Given the description of an element on the screen output the (x, y) to click on. 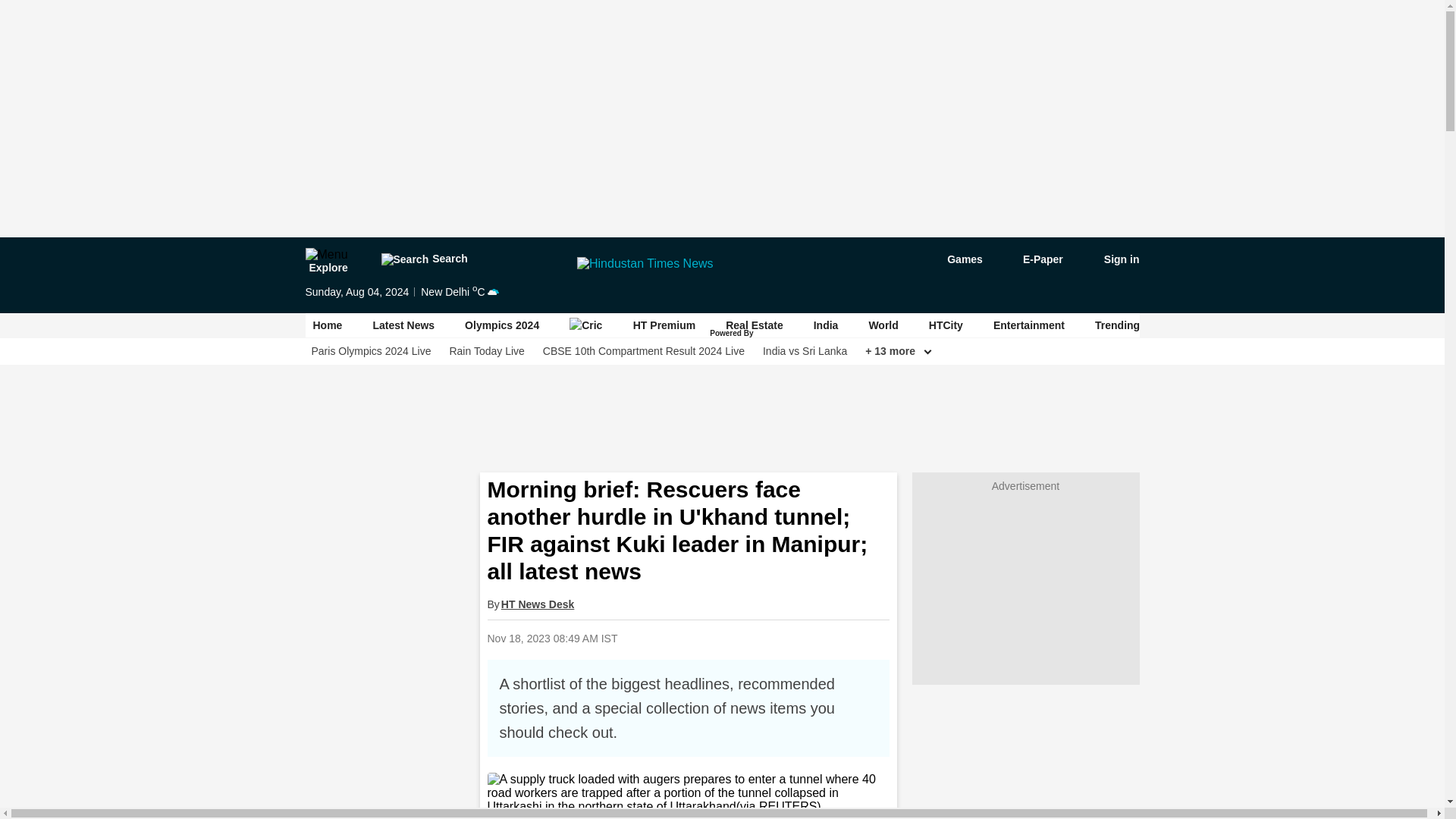
Lifestyle (1270, 325)
epaper (1034, 258)
India vs Sri Lanka (804, 350)
Powered By (753, 333)
Trending (1117, 325)
Search (423, 258)
India (825, 325)
Real Estate (754, 324)
Olympics 2024 (501, 325)
Paris Olympics 2024 Live (370, 350)
Education (1348, 325)
Share on Linkdin (788, 637)
HT Premium (664, 325)
Astrology (1195, 325)
World (882, 325)
